Given the description of an element on the screen output the (x, y) to click on. 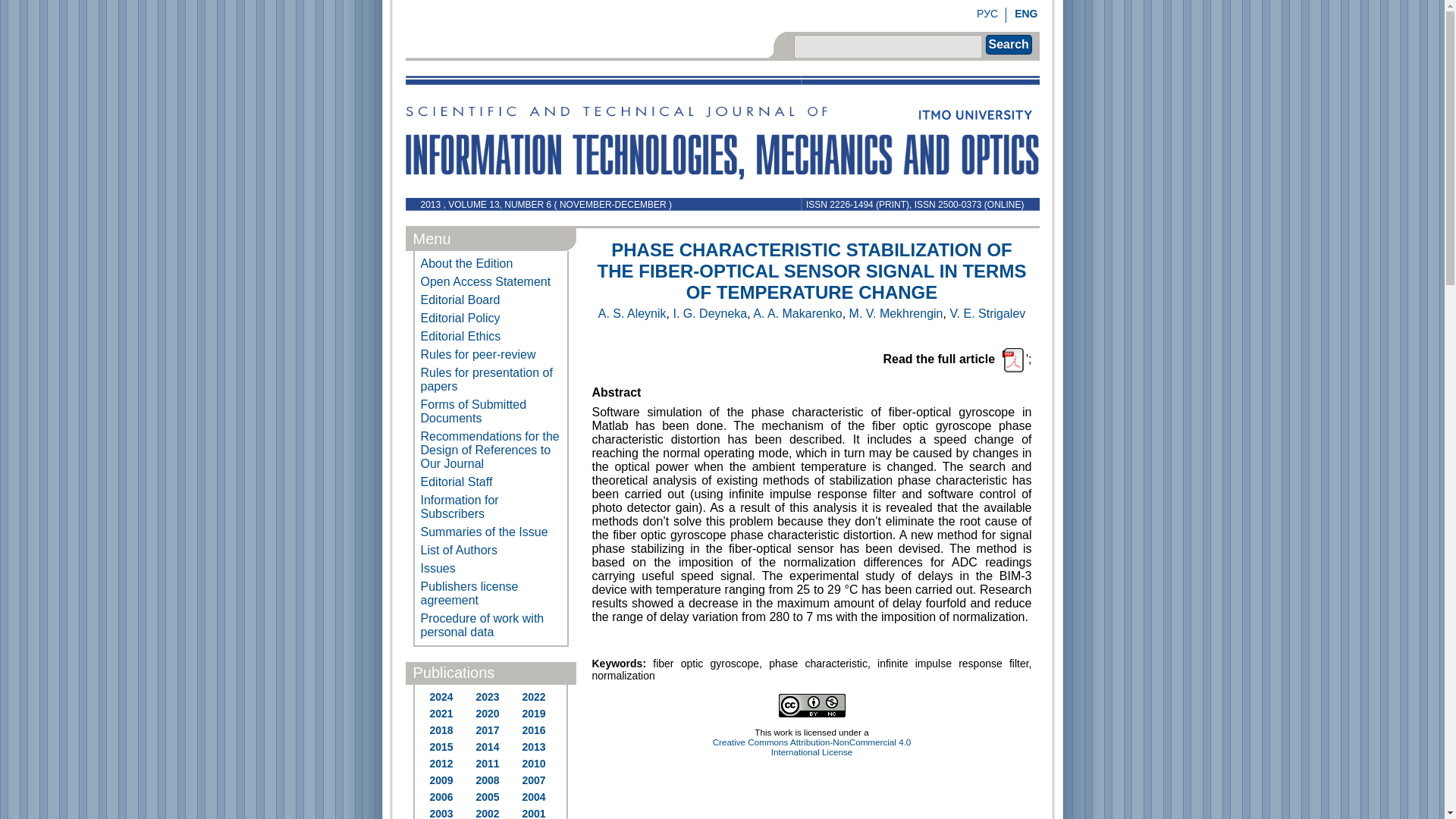
Information for Subscribers (491, 507)
Publishers license agreement (491, 593)
Rules for presentation of papers (491, 379)
Editorial Staff (491, 482)
Editorial Board (491, 300)
List of Authors (491, 550)
Editorial Ethics (491, 336)
Issues (491, 568)
ENG (1025, 13)
Recommendations for the Design of References to Our Journal (491, 450)
Procedure of work with personal data (491, 625)
Summaries of the Issue (491, 532)
Open Access Statement (491, 281)
Forms of Submitted Documents (491, 411)
Editorial Policy (491, 318)
